Given the description of an element on the screen output the (x, y) to click on. 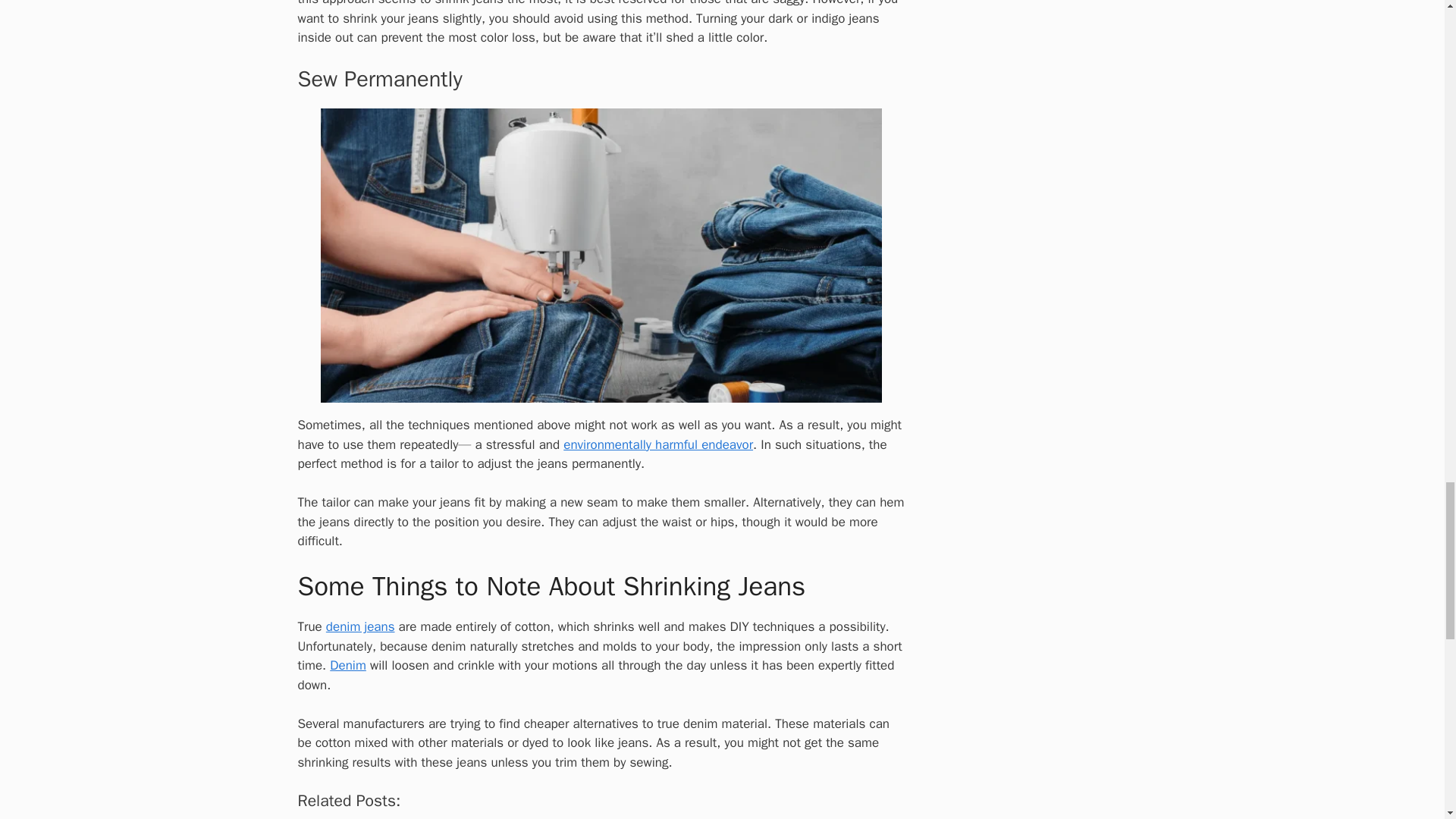
environmentally harmful endeavor (657, 444)
denim jeans (360, 626)
Denim (348, 665)
